Given the description of an element on the screen output the (x, y) to click on. 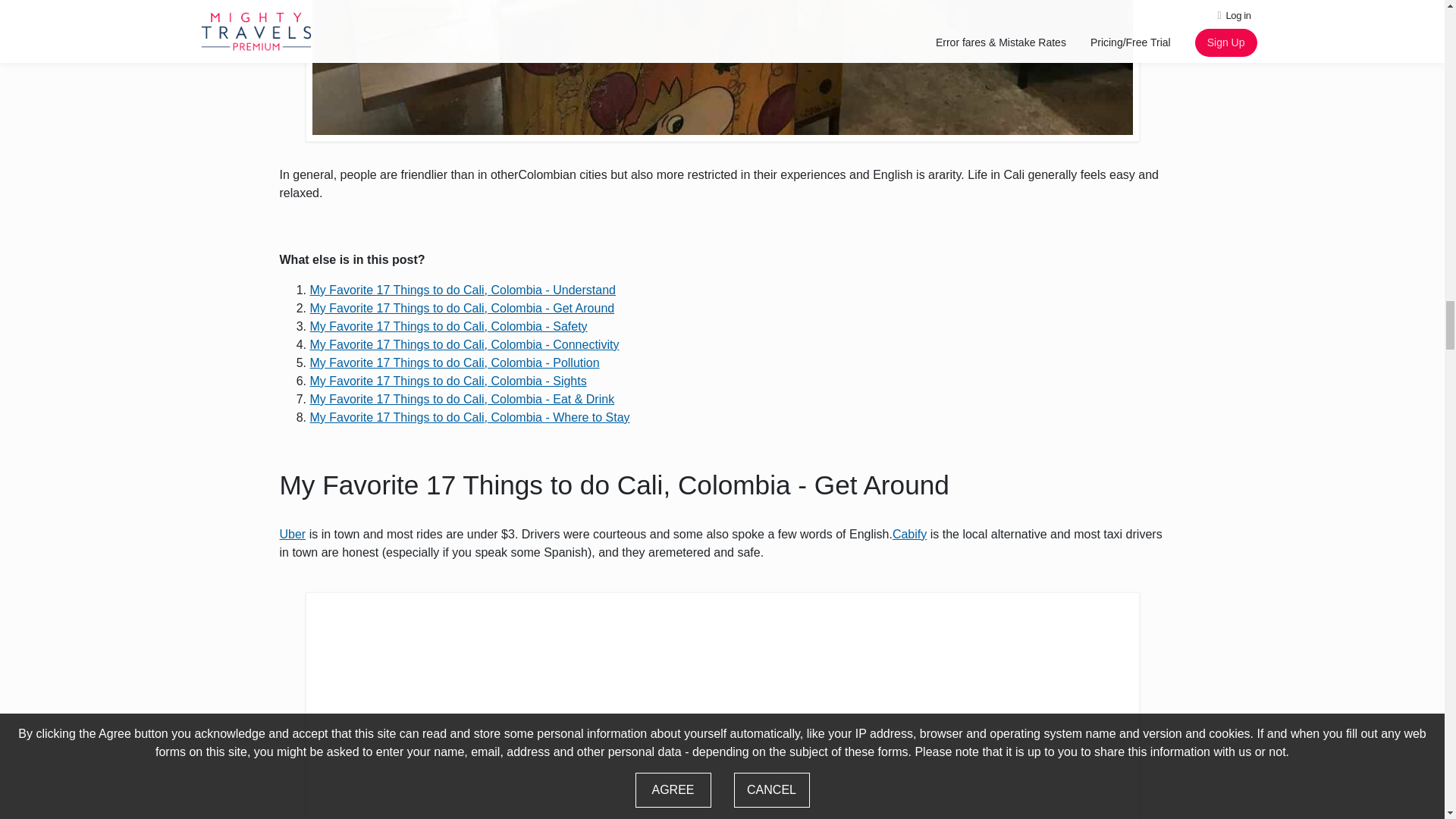
Uber (292, 533)
My Favorite 17 Things to do Cali, Colombia - Sights (447, 380)
My Favorite 17 Things to do Cali, Colombia - Safety (447, 326)
My Favorite 17 Things to do Cali, Colombia - Get Around (461, 308)
My Favorite 17 Things to do Cali, Colombia - Where to Stay (468, 417)
My Favorite 17 Things to do Cali, Colombia - Connectivity (463, 344)
My Favorite 17 Things to do Cali, Colombia - Understand (461, 289)
Cabify (909, 533)
My Favorite 17 Things to do Cali, Colombia - Pollution (453, 362)
